Given the description of an element on the screen output the (x, y) to click on. 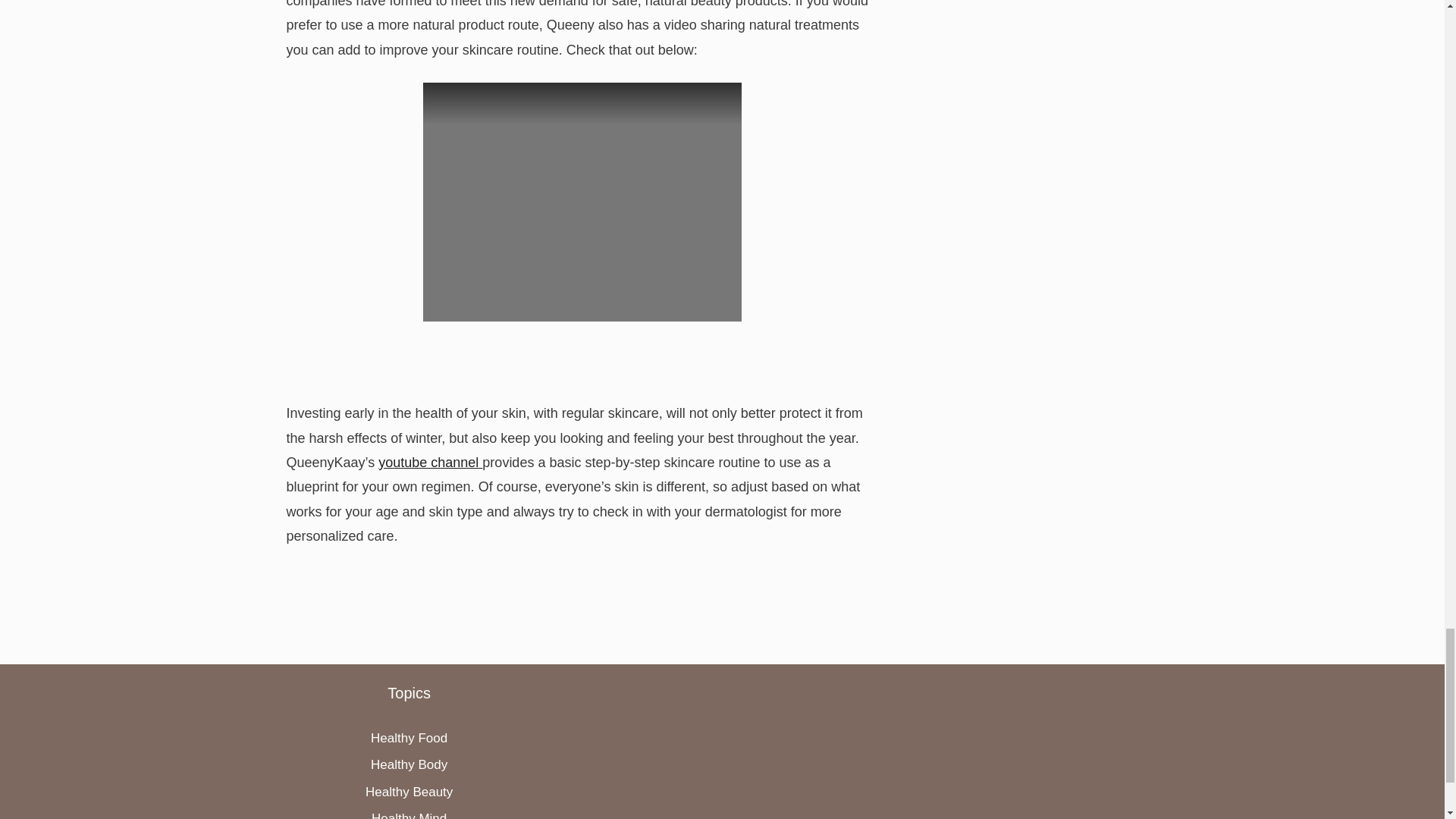
Healthy Food (408, 738)
youtube channel (429, 462)
Healthy Body (408, 764)
Healthy Mind (408, 815)
Healthy Beauty (408, 791)
